Given the description of an element on the screen output the (x, y) to click on. 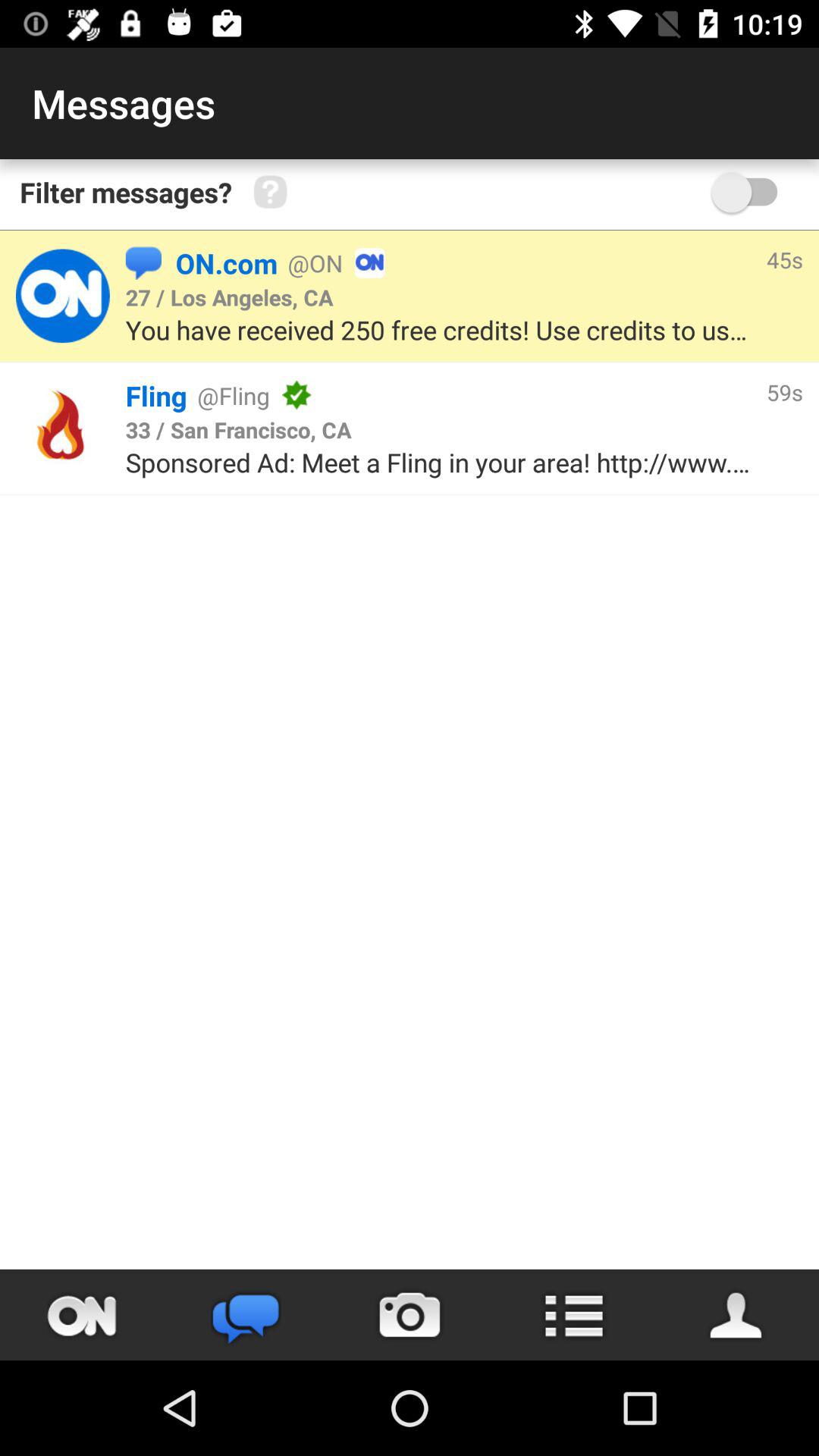
open camera (409, 1315)
